Given the description of an element on the screen output the (x, y) to click on. 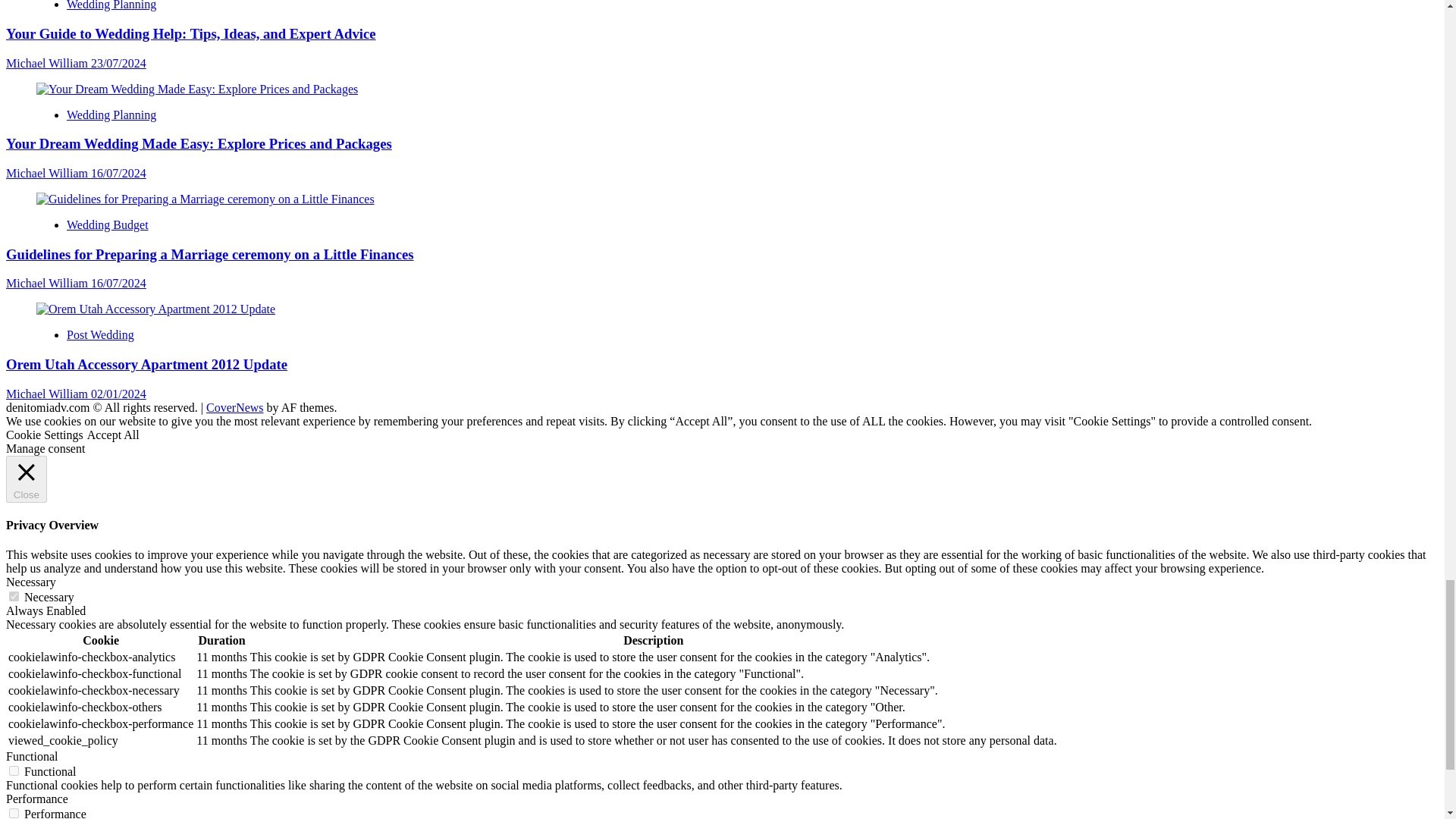
on (13, 770)
Orem Utah Accessory Apartment 2012 Update (155, 309)
on (13, 596)
Your Dream Wedding Made Easy: Explore Prices and Packages (197, 89)
on (13, 813)
